Given the description of an element on the screen output the (x, y) to click on. 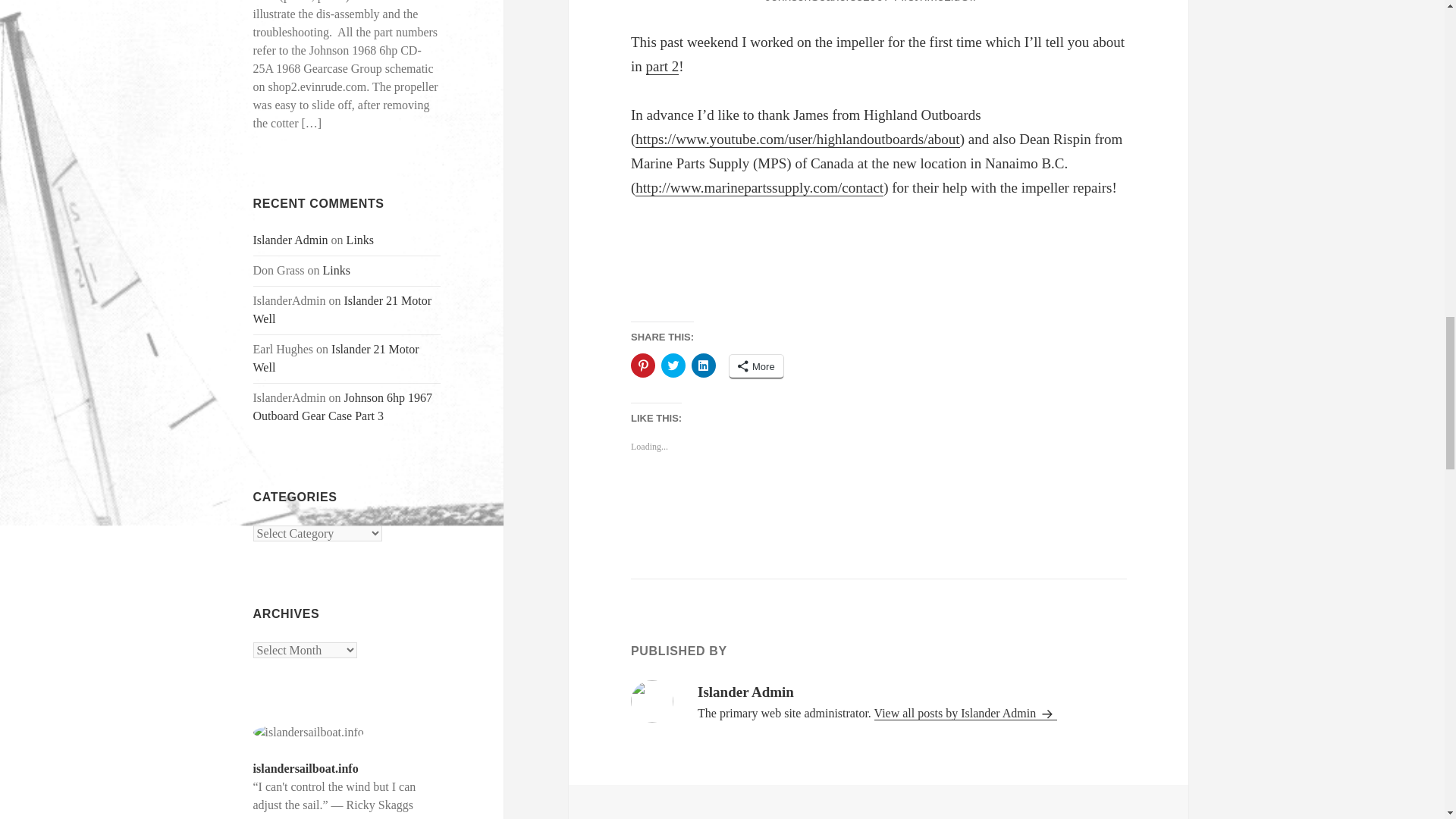
Islander 21 Motor Well (336, 358)
Like or Reblog (878, 495)
Click to share on Twitter (673, 364)
Islander 21 Motor Well (342, 309)
Links (360, 239)
Links (336, 269)
Islander Admin (291, 239)
Johnson 6hp 1967 Outboard Gear Case Part 3 (342, 406)
Click to share on Pinterest (642, 364)
Click to share on LinkedIn (703, 364)
